Given the description of an element on the screen output the (x, y) to click on. 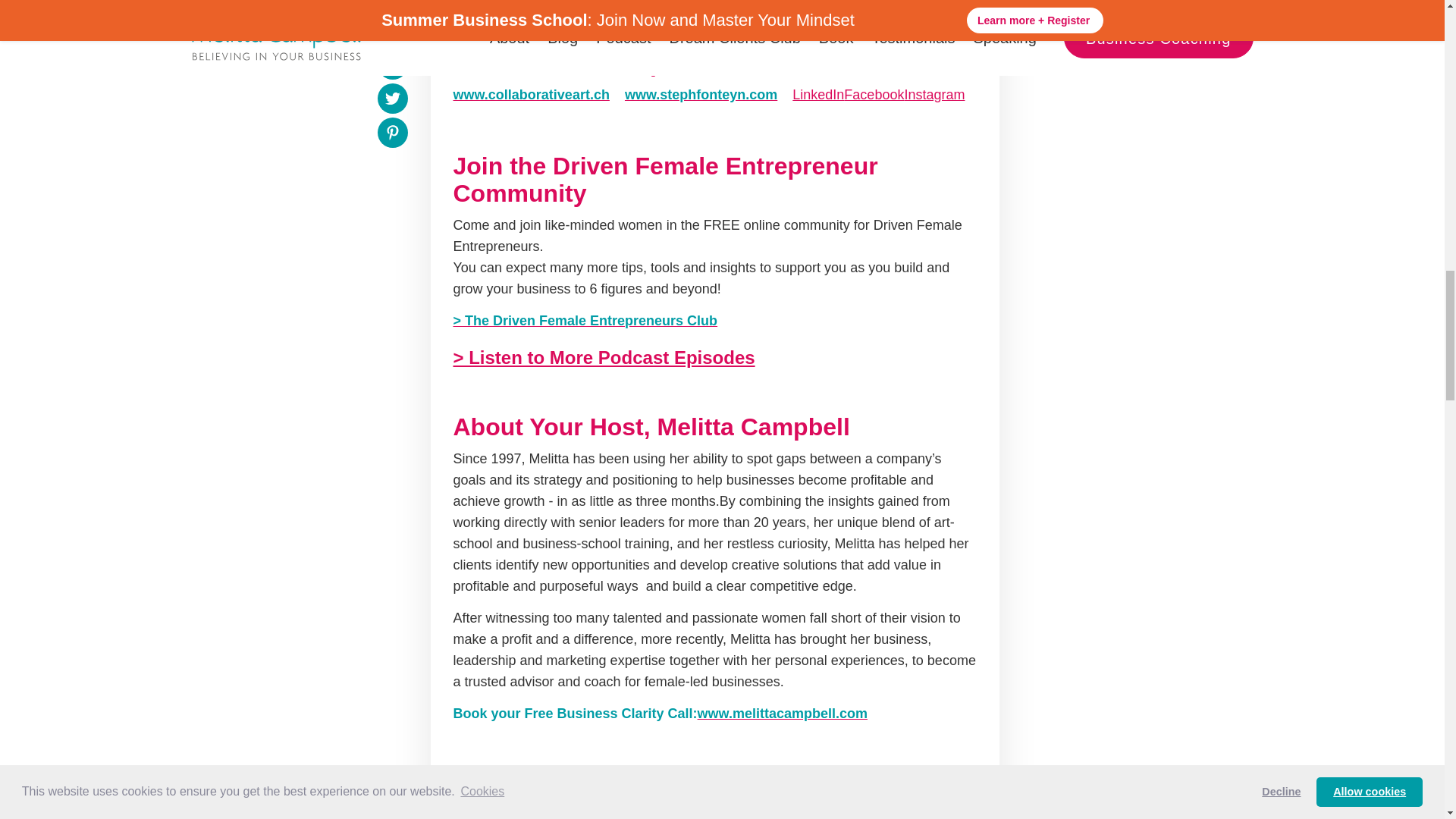
Instagram (933, 94)
www.collaborativeart.ch (531, 94)
www.stephfonteyn.com (700, 94)
LinkedIn (818, 94)
Facebook (874, 94)
www.melittacampbell.com (782, 713)
